Given the description of an element on the screen output the (x, y) to click on. 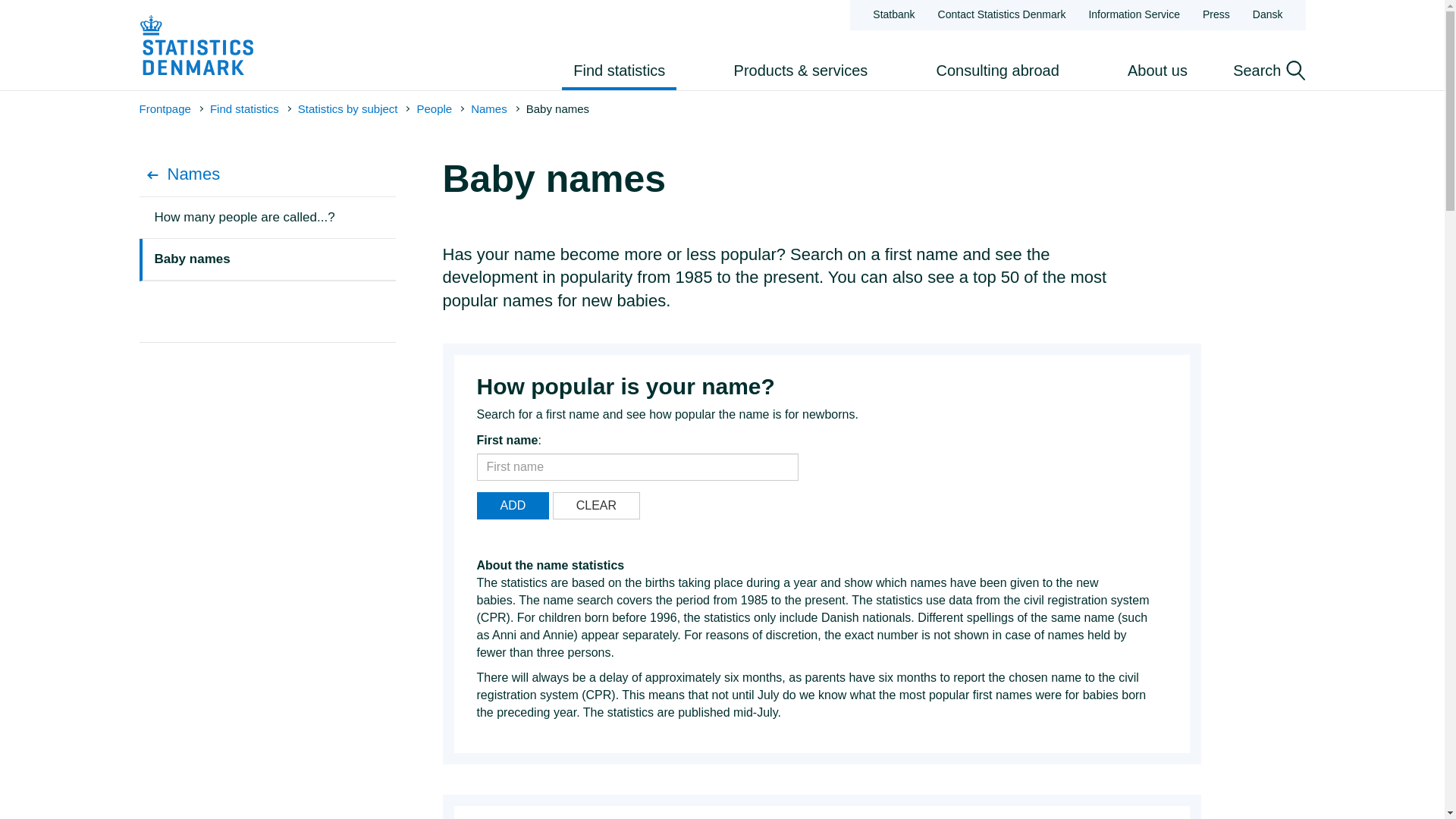
Information Service (1134, 15)
Dansk (1267, 15)
Find statistics (619, 70)
Contact Statistics Denmark (1002, 15)
Consulting abroad (997, 70)
Statbank (892, 15)
Statistics Denmark - Go to the frontpage (196, 45)
Press (1216, 15)
